Given the description of an element on the screen output the (x, y) to click on. 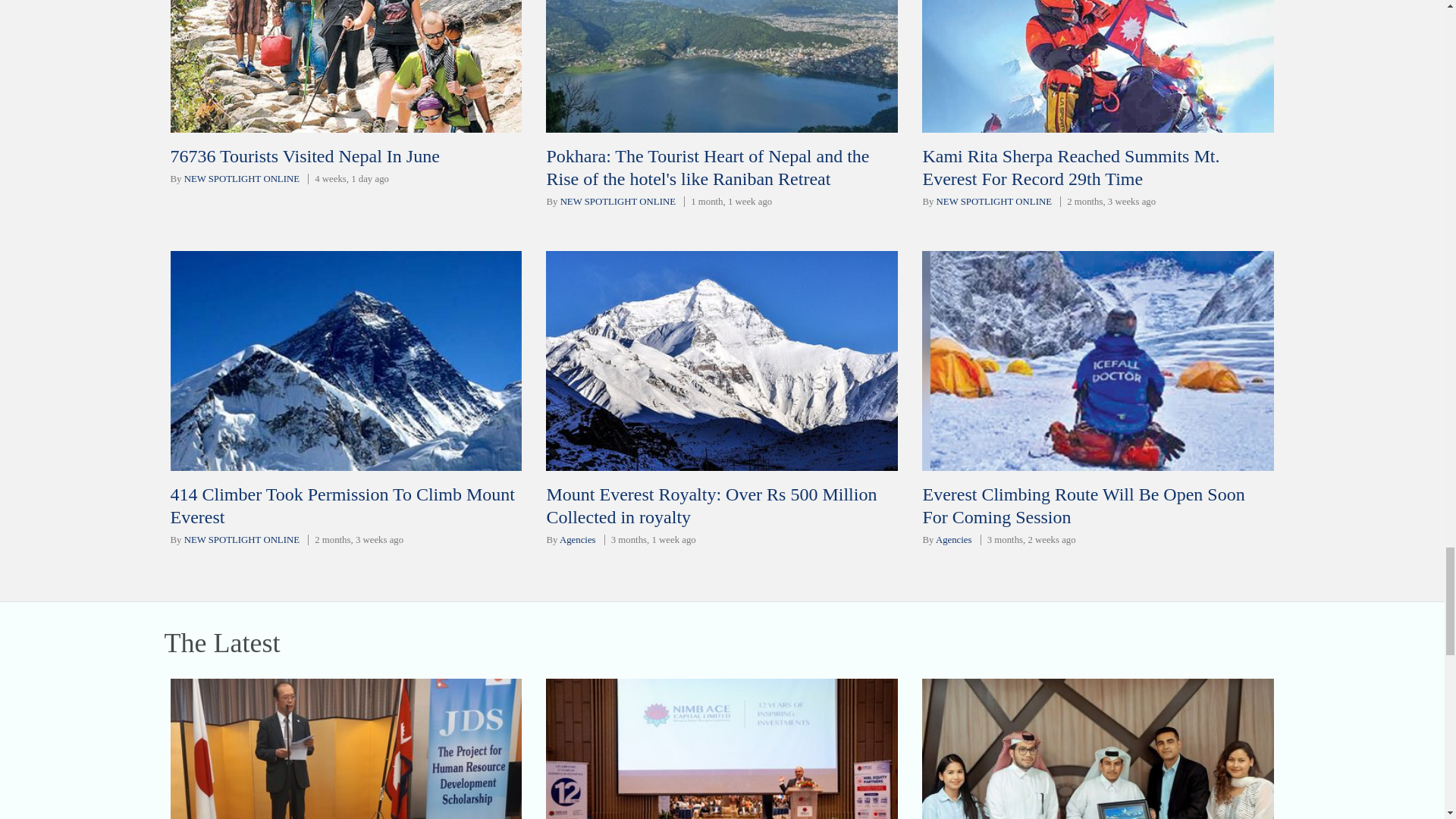
NEW SPOTLIGHT ONLINE (241, 178)
NEW SPOTLIGHT ONLINE (241, 539)
Agencies (577, 539)
76736 Tourists Visited Nepal In June (304, 156)
Agencies (954, 539)
NEW SPOTLIGHT ONLINE (617, 201)
Everest Climbing Route Will Be Open Soon For Coming Session (1082, 505)
414 Climber Took Permission To Climb Mount Everest (341, 505)
NEW SPOTLIGHT ONLINE (993, 201)
